Given the description of an element on the screen output the (x, y) to click on. 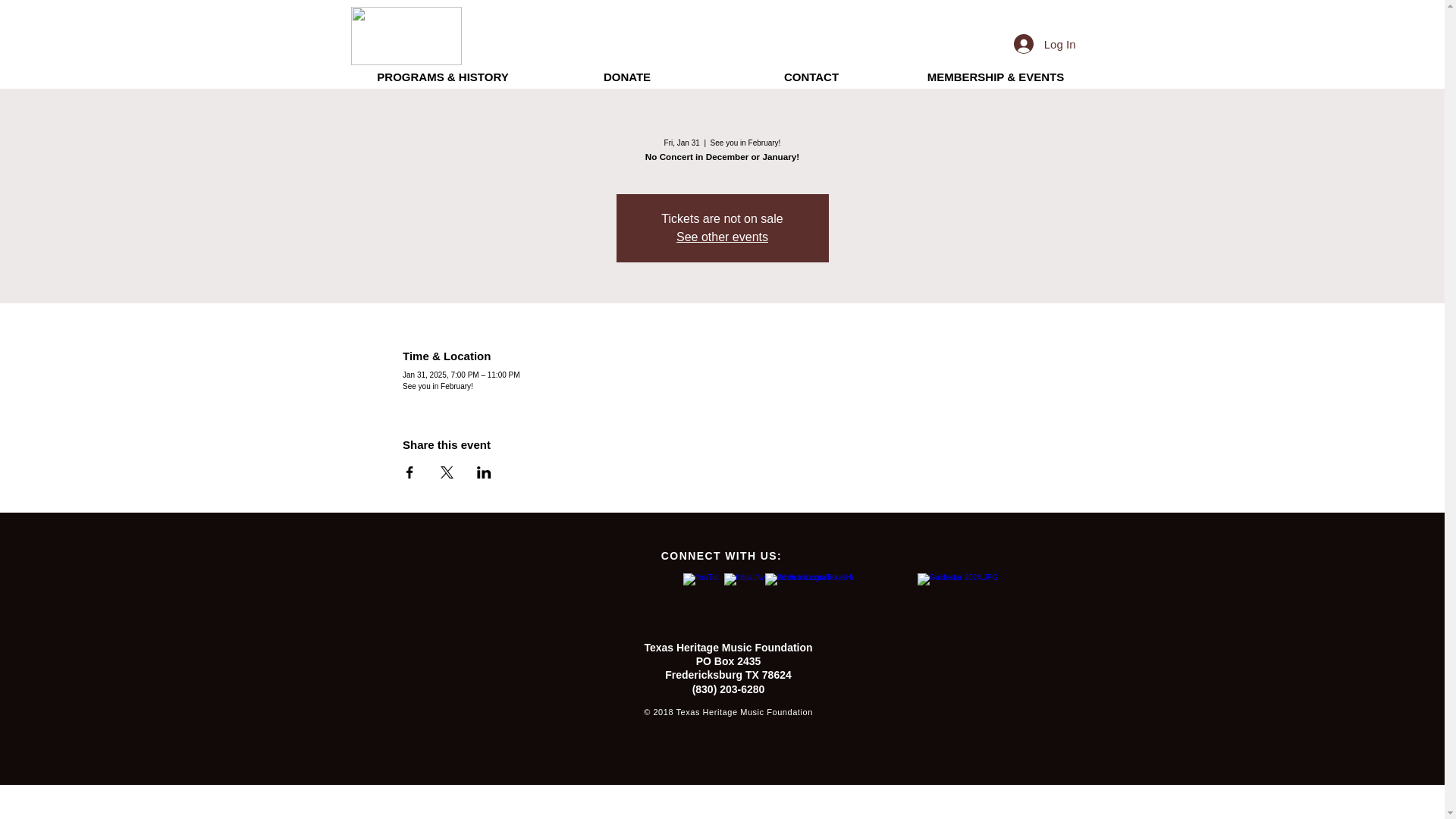
DONATE (627, 76)
See other events (722, 236)
Log In (1044, 43)
CONTACT (810, 76)
